Given the description of an element on the screen output the (x, y) to click on. 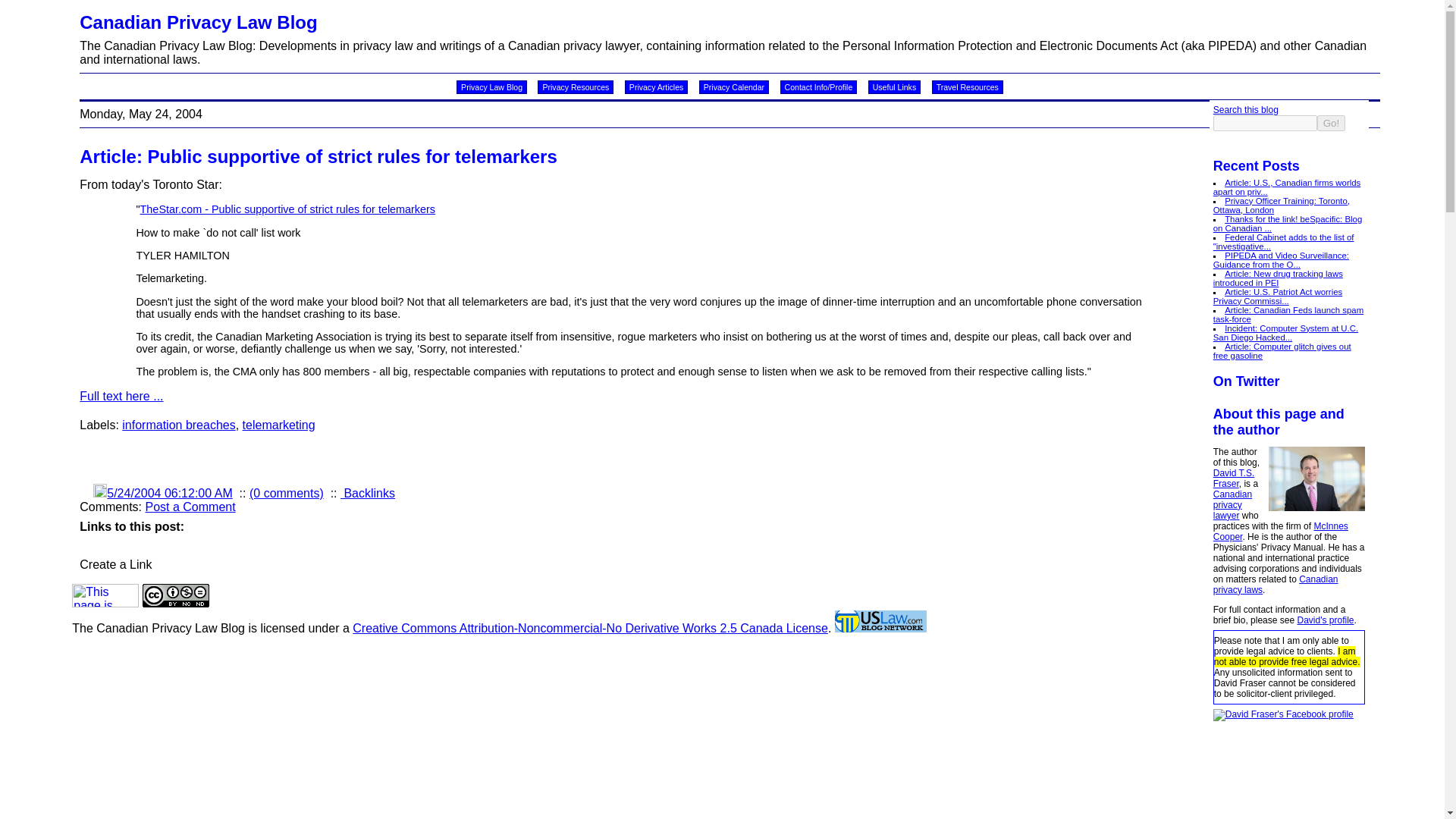
Go! (1331, 123)
permanent link (168, 492)
Canadian privacy lawyer (1232, 504)
Travel Resources (967, 87)
David Fraser's Facebook profile (1283, 713)
Advertisement (256, 461)
Useful Links (893, 87)
David's profile (1325, 619)
Incident: Computer System at U.C. San Diego Hacked... (1285, 331)
Search this blog (1245, 109)
Privacy Articles (656, 87)
Federal Cabinet adds to the list of "investigative... (1283, 240)
Article: New drug tracking laws introduced in PEI (1277, 277)
Article: U.S. Patriot Act worries Privacy Commissi... (1277, 295)
Privacy Officer Training: Toronto, Ottawa, London (1280, 204)
